Given the description of an element on the screen output the (x, y) to click on. 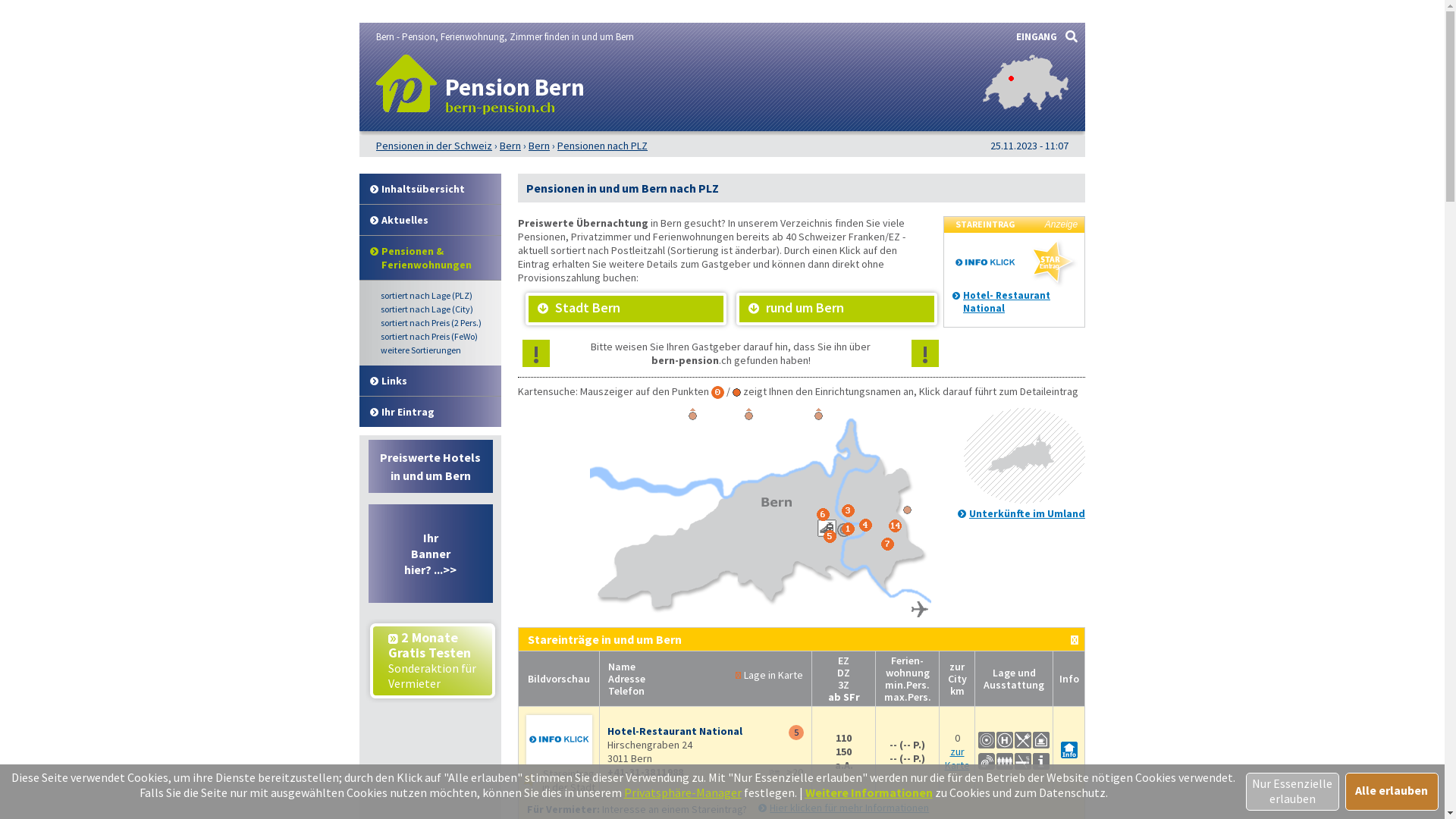
Alle erlauben Element type: text (1391, 791)
preiswerte Gastgeber in der Schweiz via Landkarte finden Element type: hover (1025, 106)
Links Element type: text (430, 380)
Ihr
Banner
hier? ...>> Element type: text (430, 553)
Bern Element type: text (538, 145)
EINGANG Element type: text (1036, 36)
Pensionen &
Ferienwohnungen Element type: text (430, 257)
sortiert nach Lage (City) Element type: text (436, 309)
Nur Essenzielle erlauben Element type: text (1291, 791)
sortiert nach Lage (PLZ) Element type: text (436, 295)
Weitere Informationen Element type: text (868, 792)
Bern: Hotel-Restaurant National Element type: hover (1068, 751)
Ihr Eintrag Element type: text (430, 411)
Hotel- Restaurant
National Element type: text (1006, 301)
Hotel-Restaurant National Element type: text (674, 730)
Bern: Hotel-Restaurant National Element type: hover (559, 739)
weitere Sortierungen Element type: text (436, 350)
sortiert nach Preis (2 Pers.) Element type: text (436, 322)
Preiswerte Hotels
in und um Bern Element type: text (430, 465)
Bern Element type: text (509, 145)
5 Element type: text (795, 732)
Zur Umgebung Bern Element type: hover (1024, 499)
sortiert nach Preis (FeWo) Element type: text (436, 336)
Pensionen in der Schweiz Element type: text (434, 145)
Pensionen nach PLZ Element type: text (602, 145)
Aktuelles Element type: text (430, 219)
zur
Karte Element type: text (956, 757)
